Given the description of an element on the screen output the (x, y) to click on. 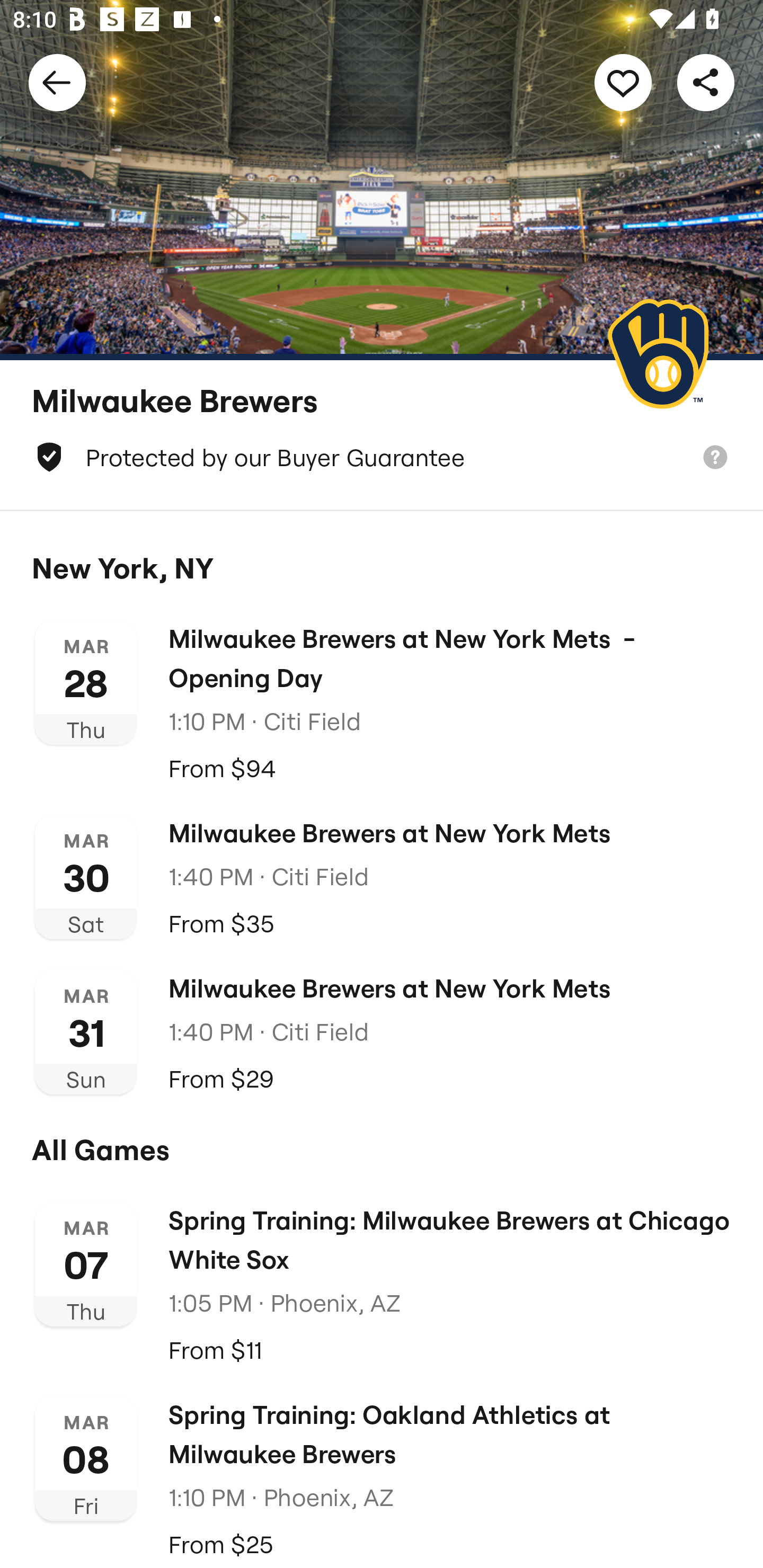
Back (57, 81)
Track this performer (623, 81)
Share this performer (705, 81)
Protected by our Buyer Guarantee Learn more (381, 456)
